Given the description of an element on the screen output the (x, y) to click on. 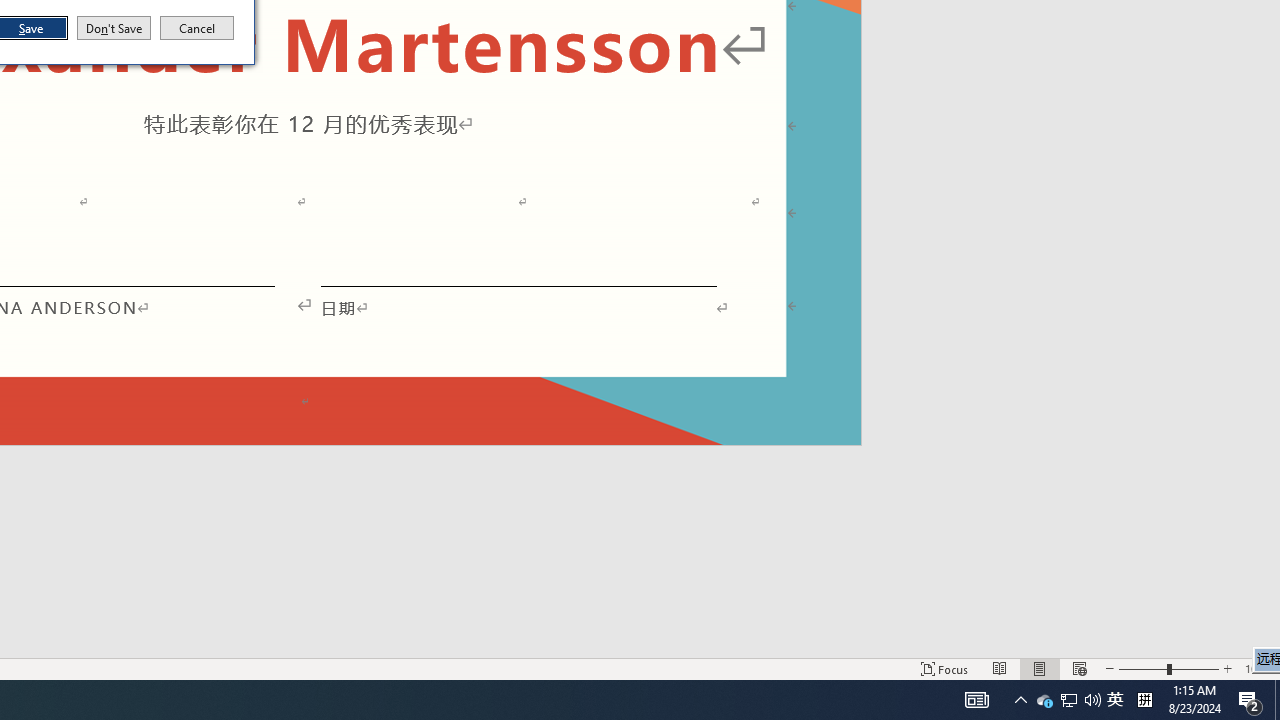
Q2790: 100% (1092, 699)
Print Layout (1039, 668)
Zoom (1168, 668)
Zoom 100% (1258, 668)
Show desktop (1277, 699)
Tray Input Indicator - Chinese (Simplified, China) (1044, 699)
